Given the description of an element on the screen output the (x, y) to click on. 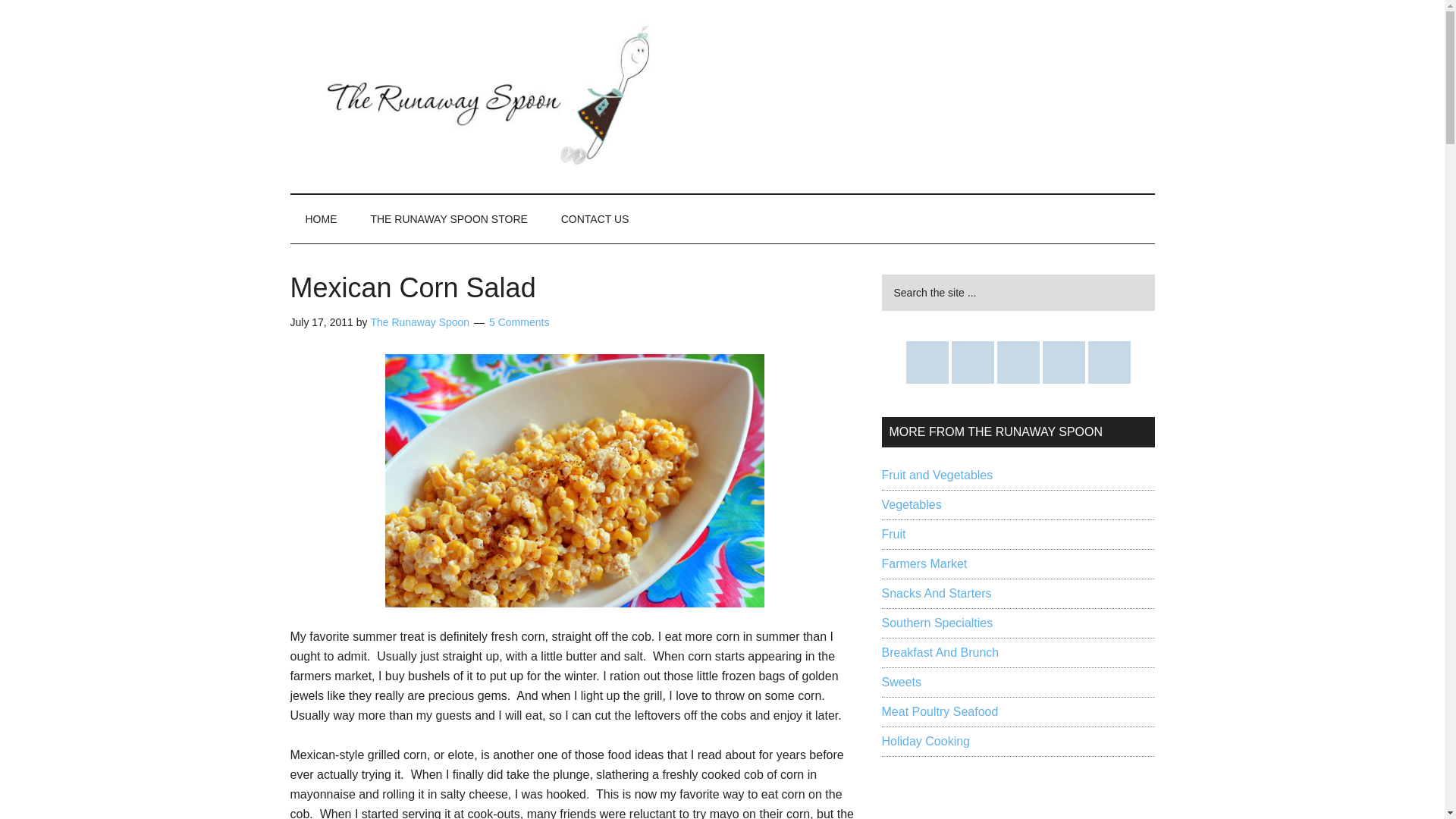
5 Comments (518, 322)
HOME (320, 218)
The Runaway Spoon (418, 322)
CONTACT US (595, 218)
THE RUNAWAY SPOON STORE (448, 218)
